Given the description of an element on the screen output the (x, y) to click on. 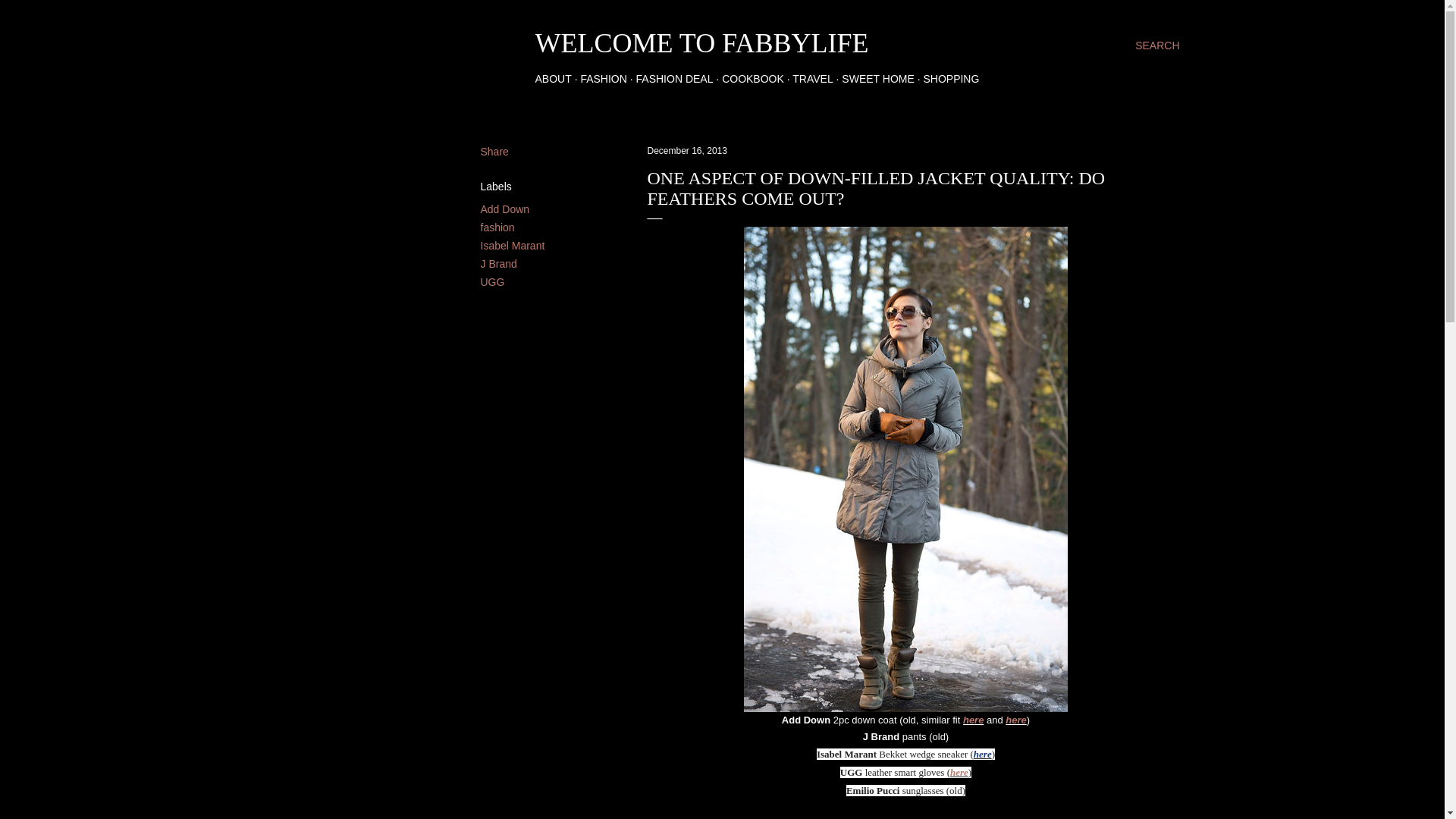
SWEET HOME (877, 78)
here (959, 772)
here (973, 719)
Isabel Marant (512, 245)
here (1016, 719)
Share (494, 151)
fashion (497, 227)
permanent link (686, 150)
FASHION DEAL (674, 78)
J Brand (498, 263)
December 16, 2013 (686, 150)
here (982, 754)
UGG (492, 282)
COOKBOOK (753, 78)
FASHION (602, 78)
